Given the description of an element on the screen output the (x, y) to click on. 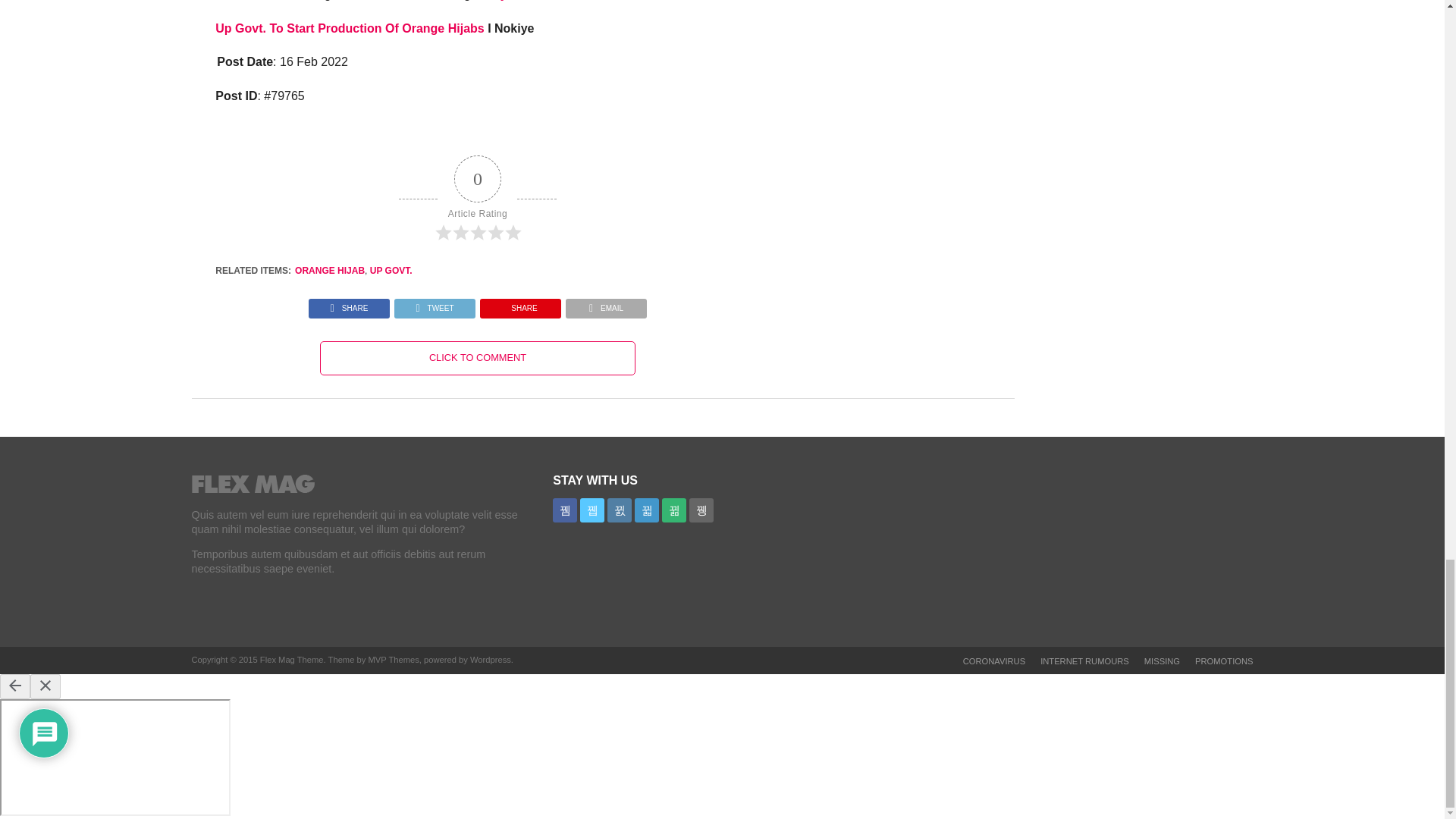
Pin This Post (520, 304)
Share on Facebook (349, 304)
Tweet This Post (434, 304)
